Given the description of an element on the screen output the (x, y) to click on. 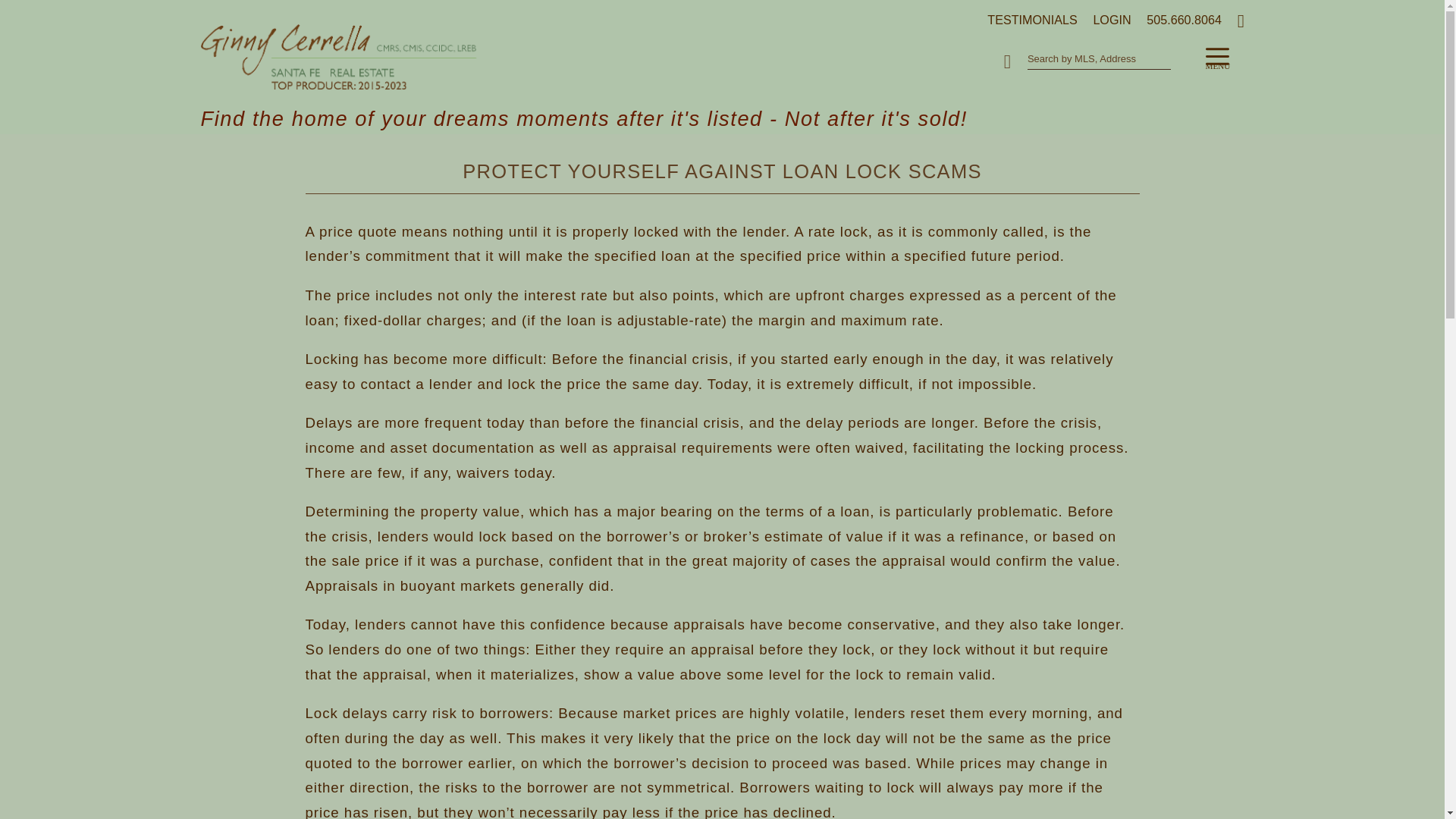
TESTIMONIALS (1026, 18)
505.660.8064 (1177, 18)
LOGIN (1105, 18)
